Given the description of an element on the screen output the (x, y) to click on. 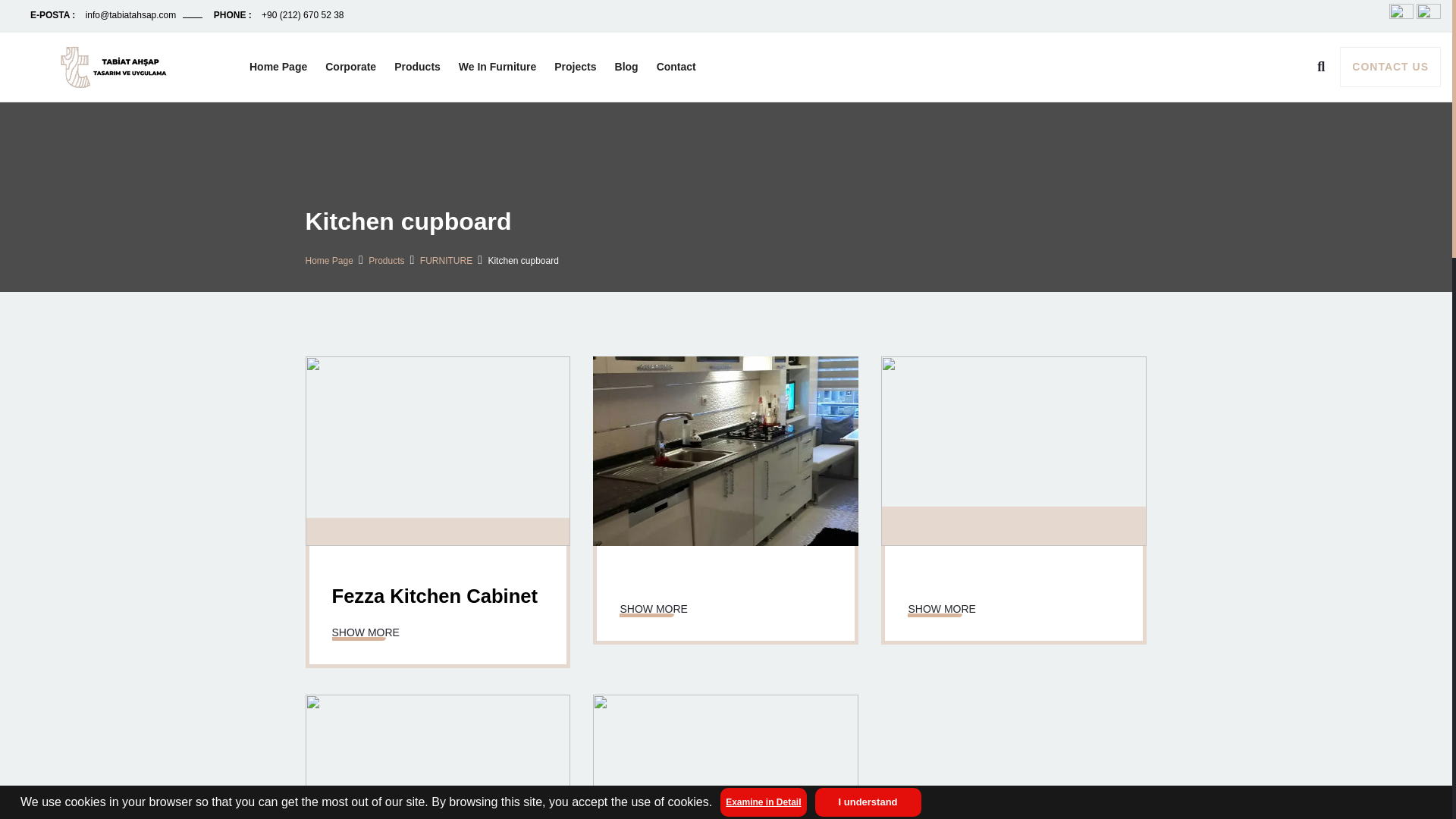
Products (417, 66)
I understand (868, 801)
Corporate (350, 66)
Examine in Detail (763, 801)
Home Page (277, 66)
CONTACT US (1390, 66)
We In Furniture (496, 66)
